Given the description of an element on the screen output the (x, y) to click on. 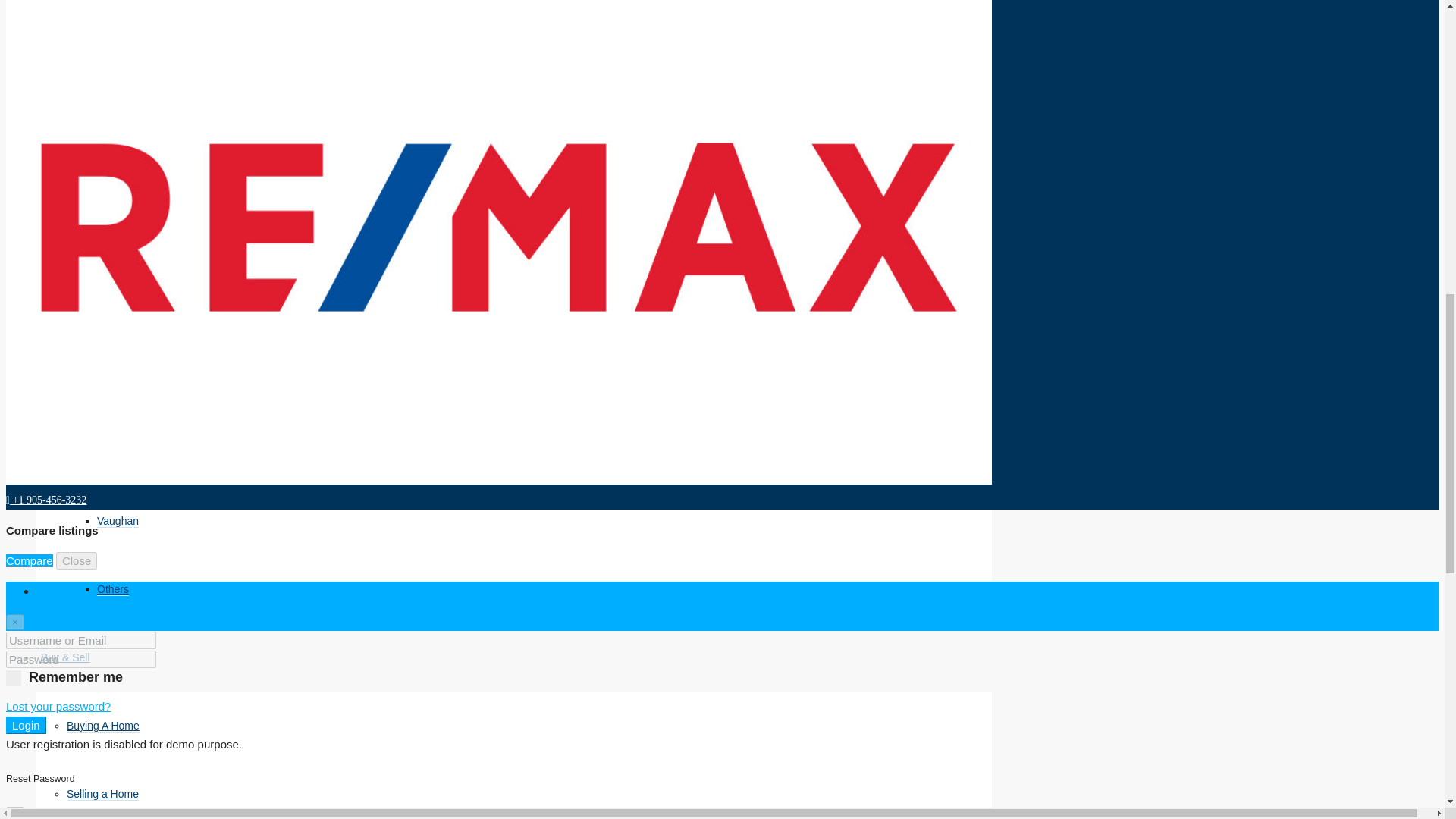
Toronto (114, 111)
Vaughan (117, 521)
Milton (111, 384)
Communities (97, 42)
Brampton (119, 179)
Others (113, 589)
Caledon (116, 247)
Mississauga (126, 316)
Buying A Home (102, 725)
Oakville (116, 452)
